Given the description of an element on the screen output the (x, y) to click on. 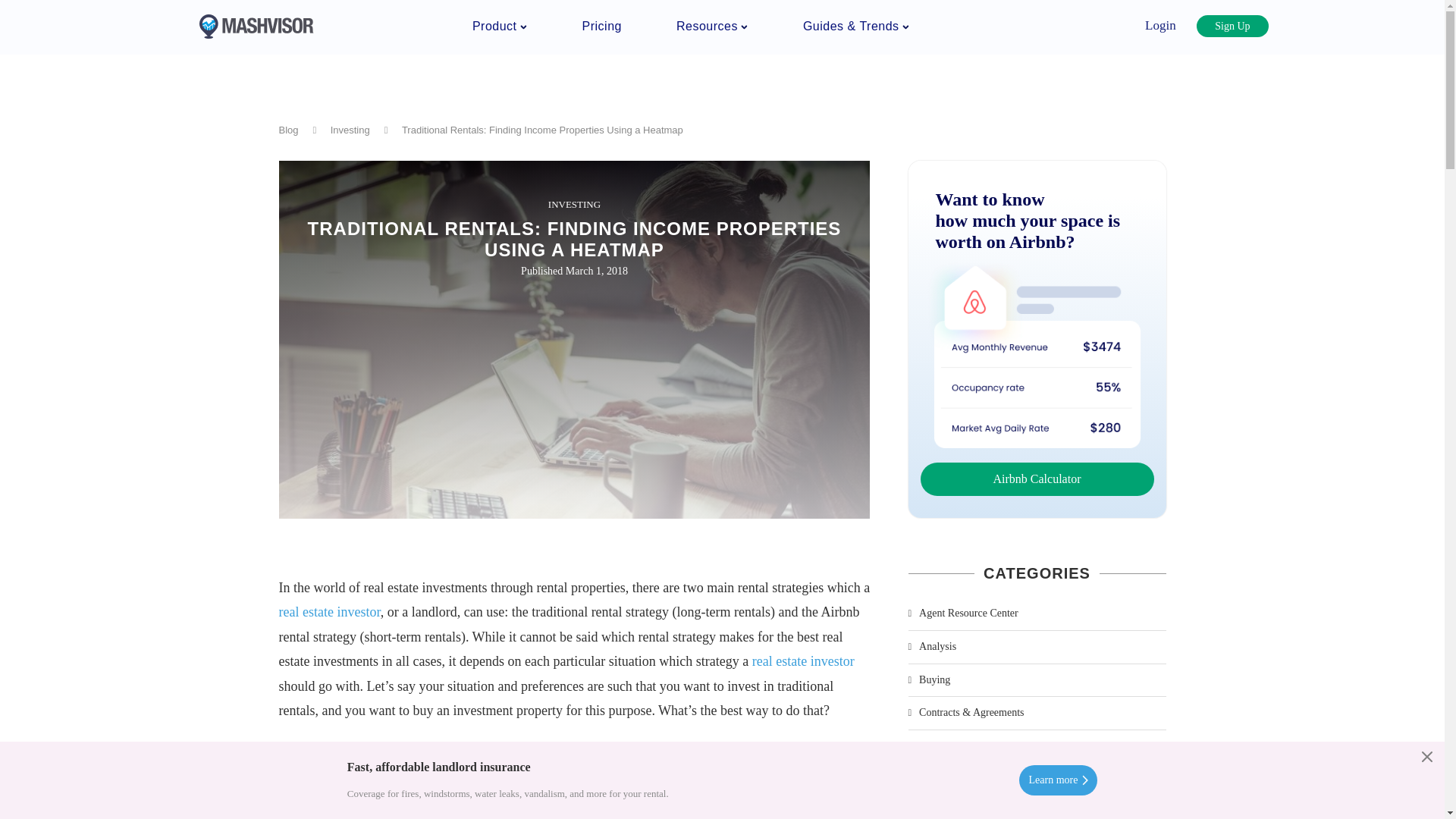
Pricing (601, 25)
Resources (712, 25)
Blog (288, 129)
Product (499, 25)
